Given the description of an element on the screen output the (x, y) to click on. 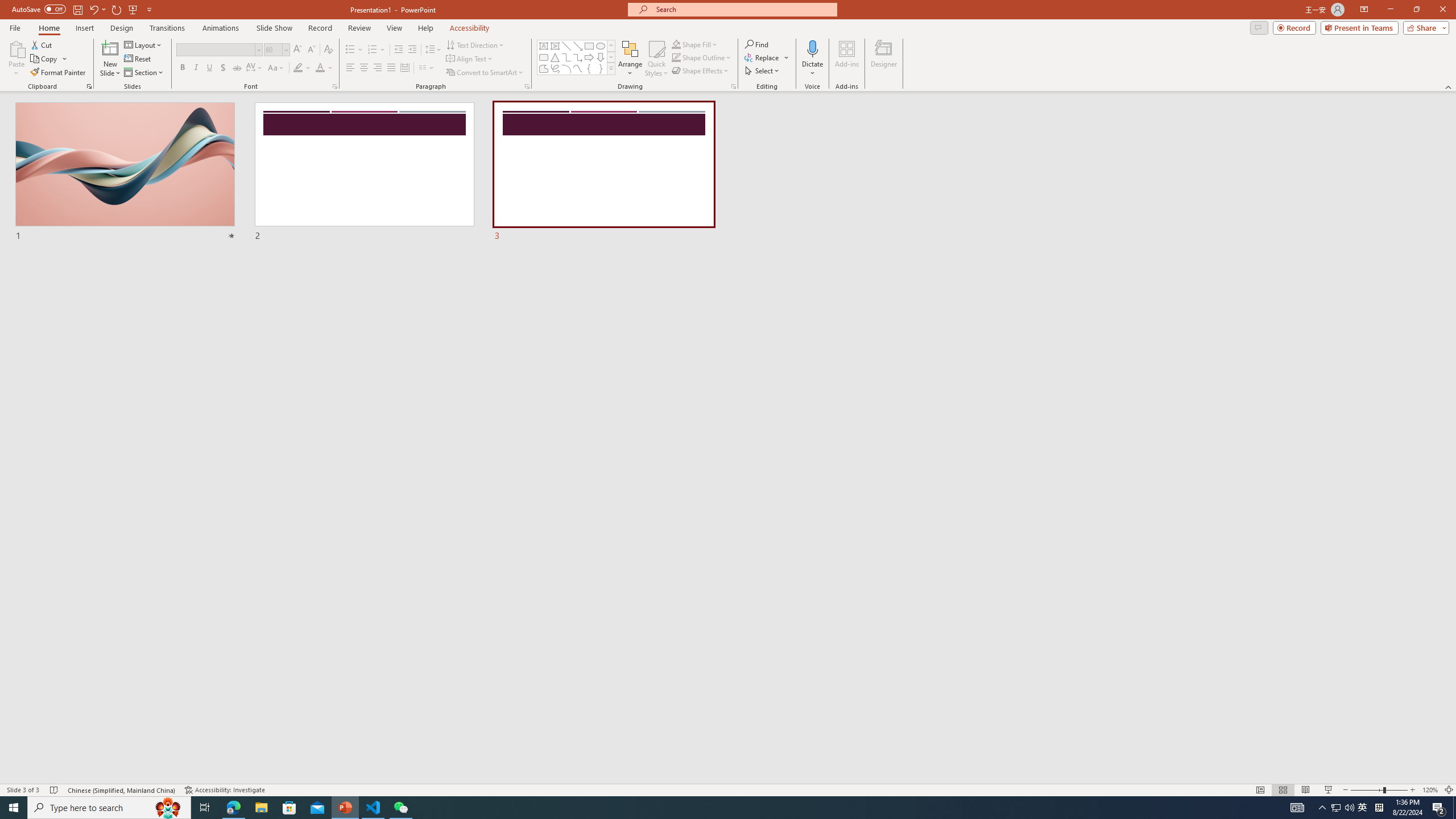
Zoom 120% (1430, 790)
